Given the description of an element on the screen output the (x, y) to click on. 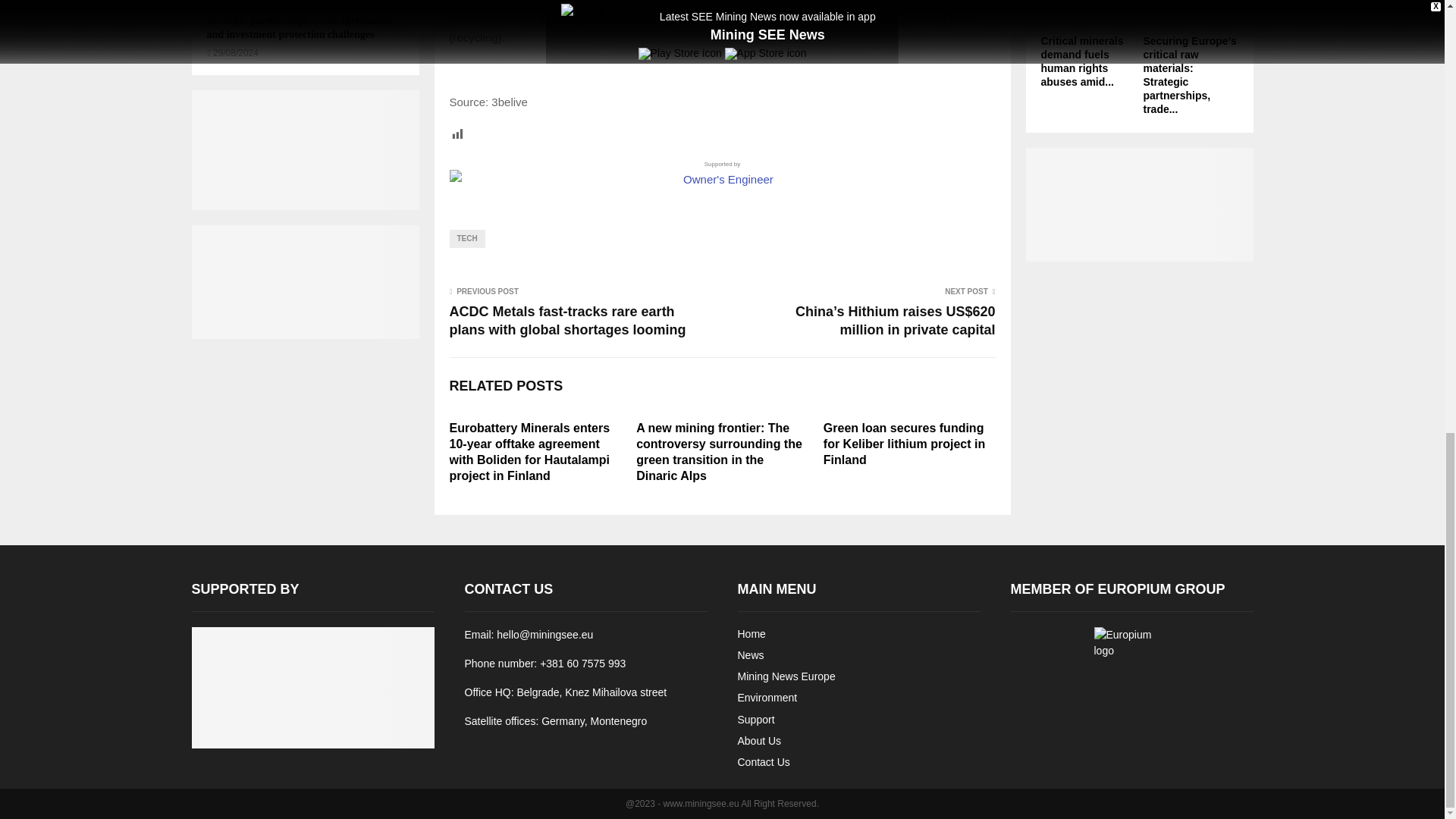
Supported by (721, 173)
TECH (466, 239)
